Given the description of an element on the screen output the (x, y) to click on. 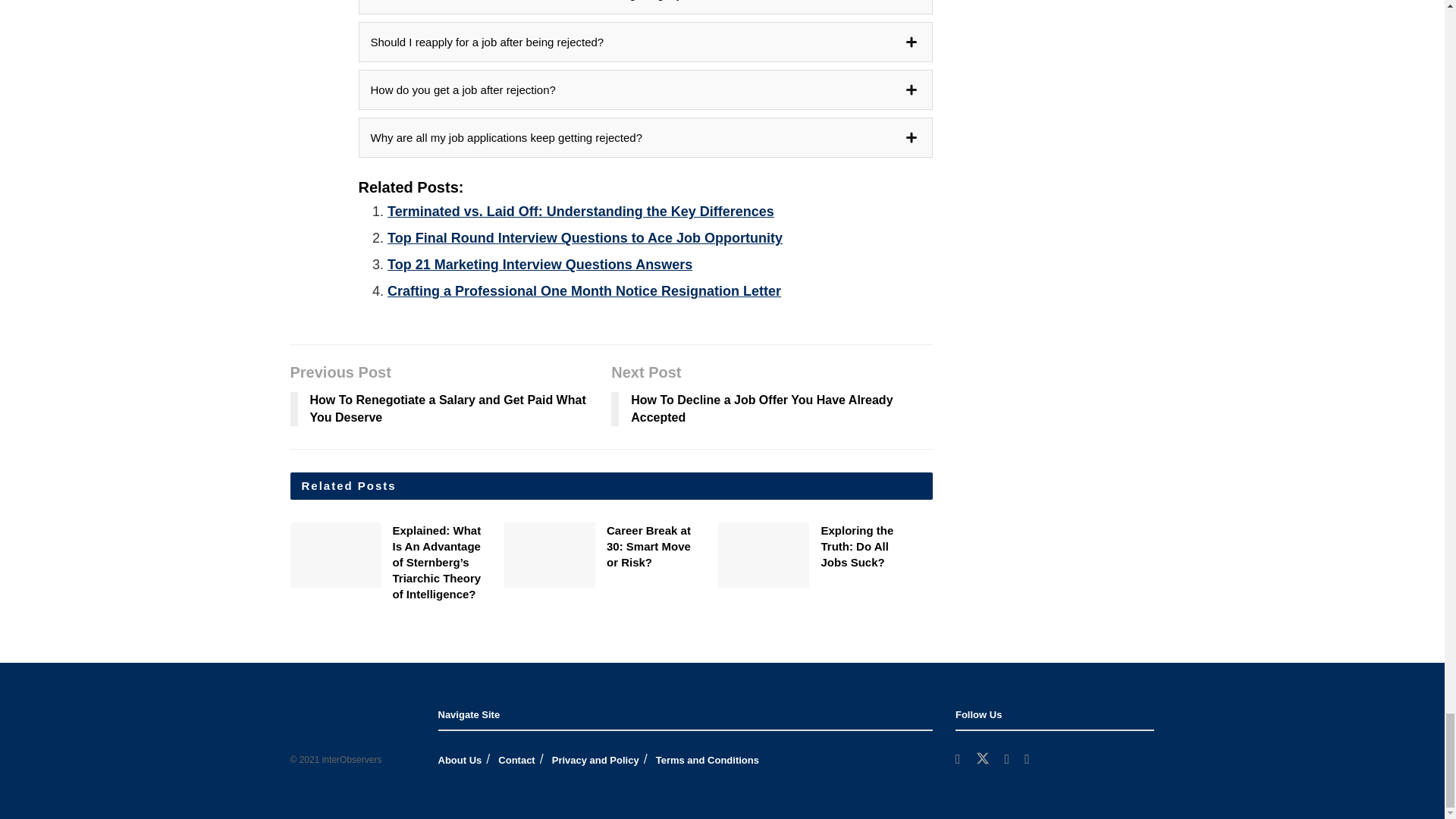
Terminated vs. Laid Off: Understanding the Key Differences (580, 211)
Next (944, 559)
Previous (944, 536)
Top Final Round Interview Questions to Ace Job Opportunity (585, 237)
Crafting a Professional One Month Notice Resignation Letter (583, 290)
Top 21 Marketing Interview Questions Answers (540, 264)
